Given the description of an element on the screen output the (x, y) to click on. 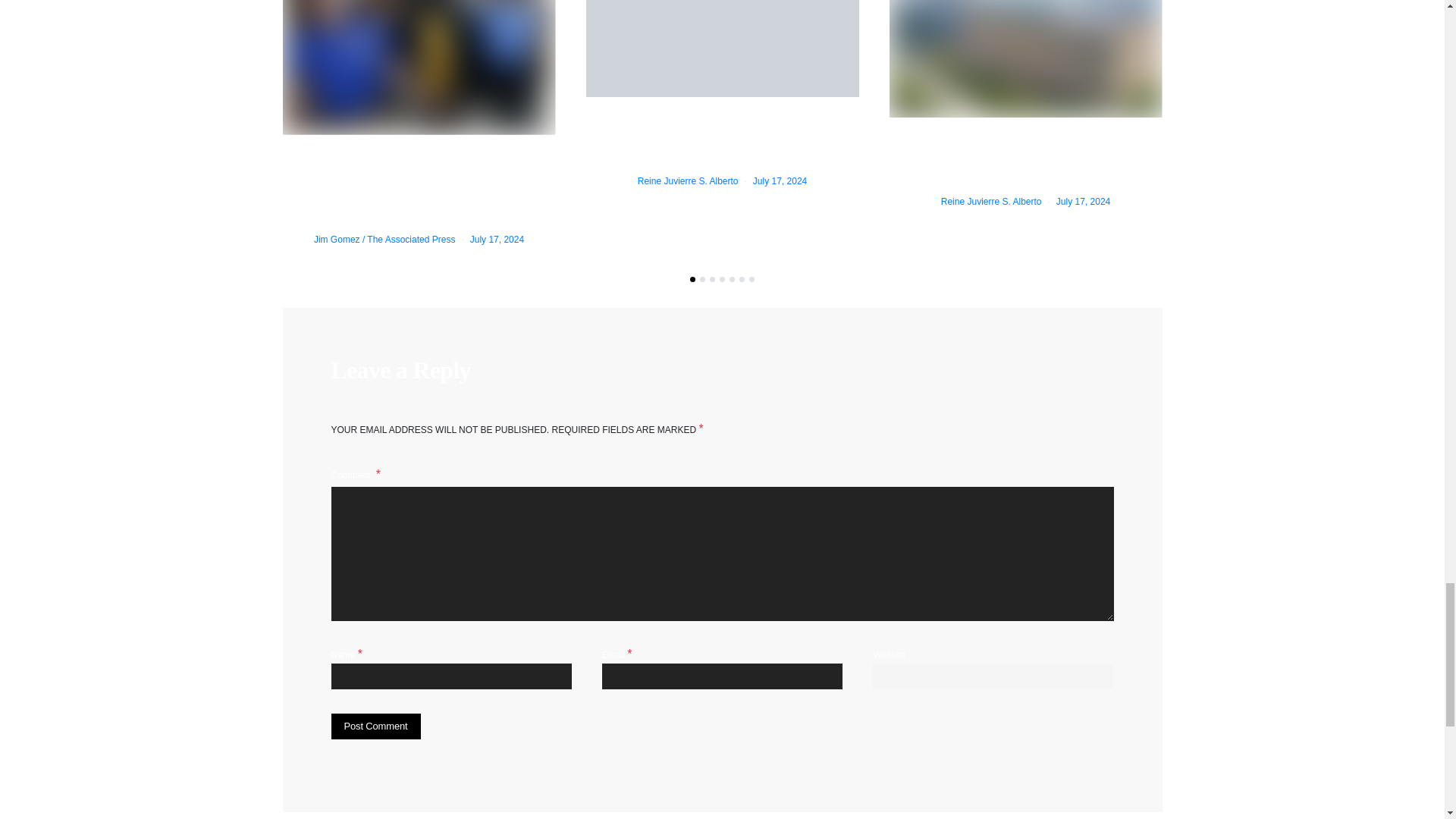
View all posts by Reine Juvierre S. Alberto (687, 181)
View all posts by Reine Juvierre S. Alberto (991, 201)
Post Comment (375, 726)
